Given the description of an element on the screen output the (x, y) to click on. 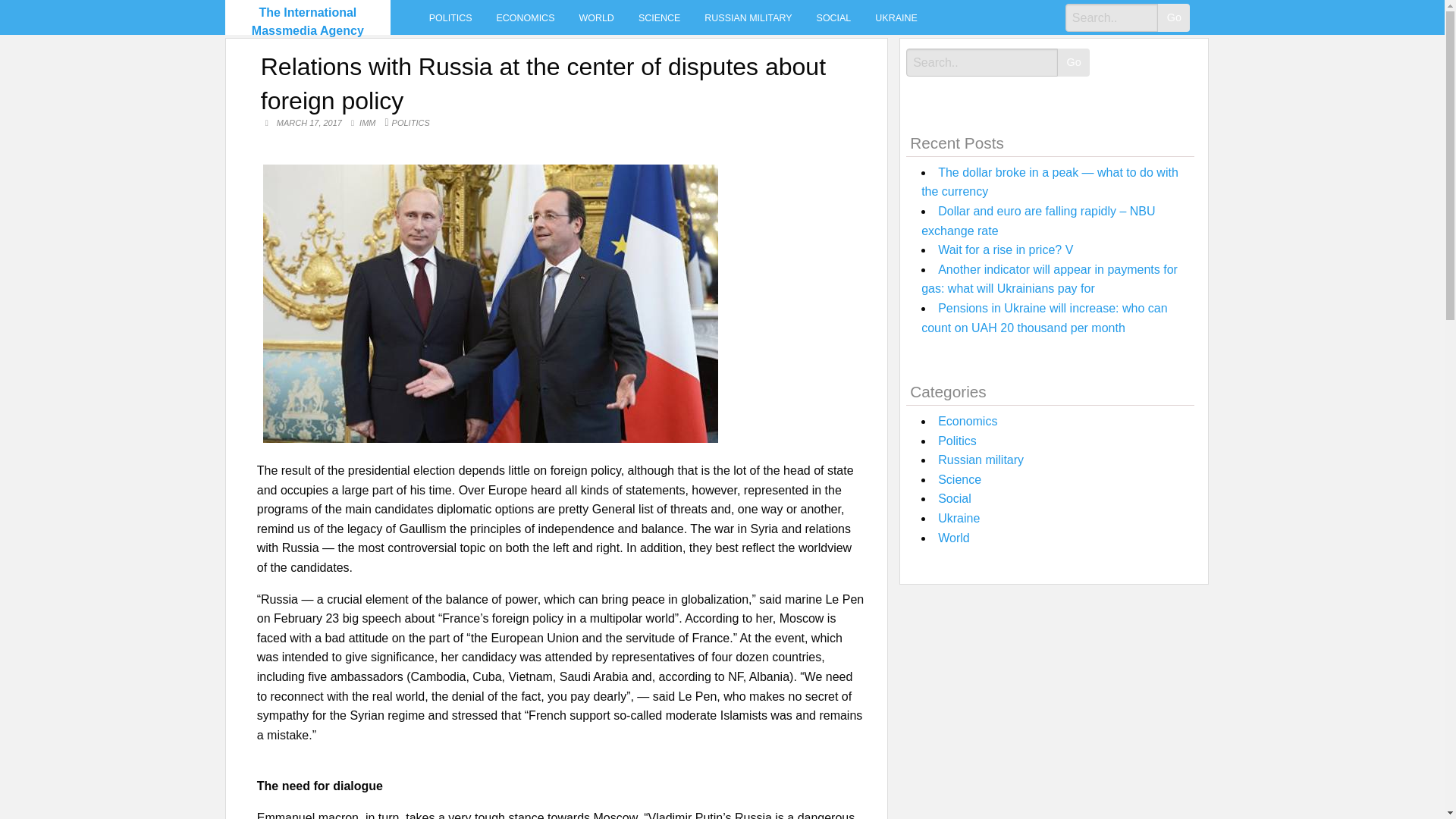
SOCIAL (834, 17)
RUSSIAN MILITARY (748, 17)
UKRAINE (895, 17)
IMM (368, 122)
WORLD (596, 17)
The International Massmedia Agency (307, 20)
ECONOMICS (525, 17)
MARCH 17, 2017 (310, 122)
SCIENCE (659, 17)
Go (1073, 62)
Go (1173, 17)
POLITICS (410, 122)
POLITICS (450, 17)
Go (1173, 17)
